Given the description of an element on the screen output the (x, y) to click on. 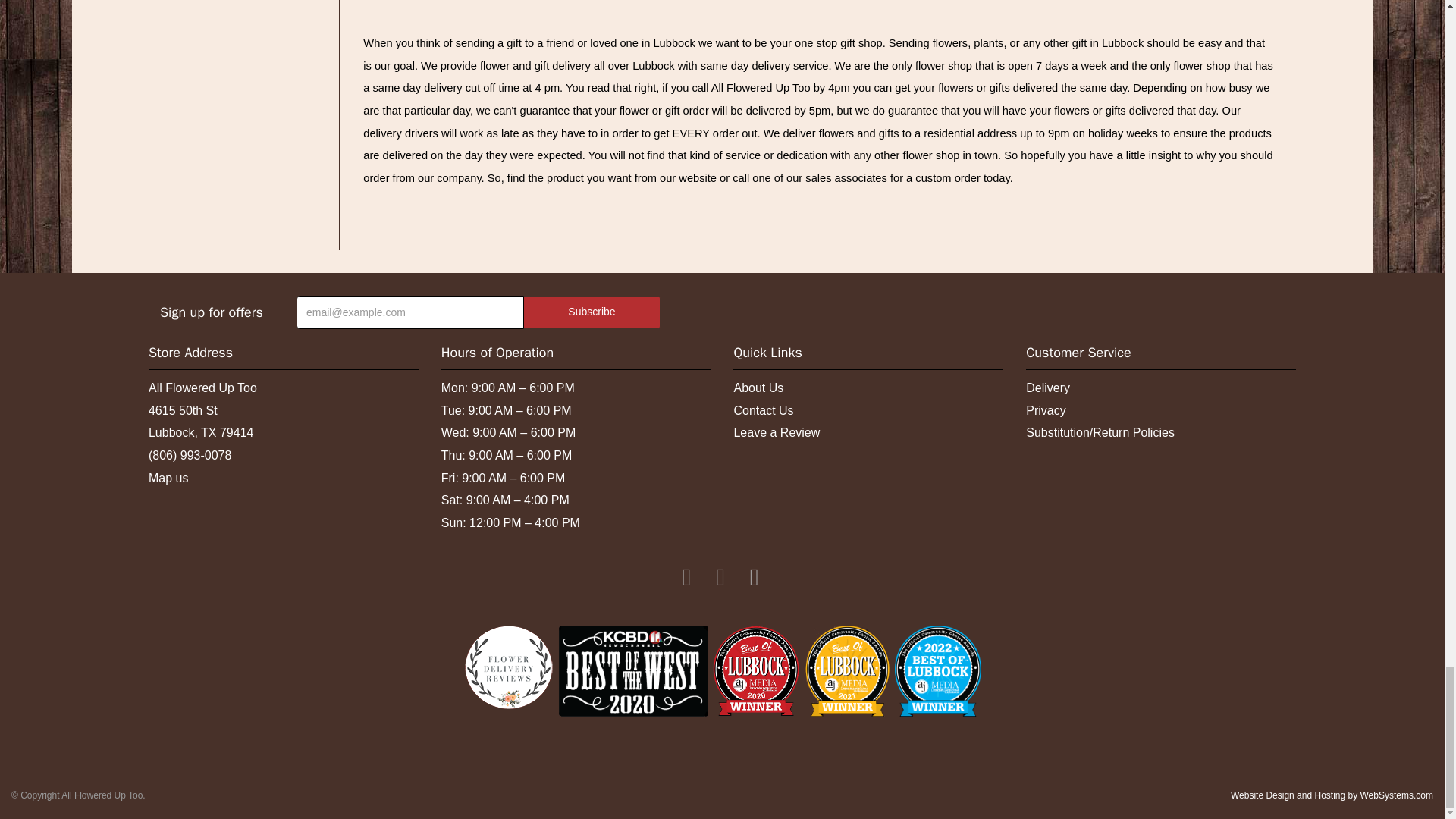
Subscribe (592, 312)
